Given the description of an element on the screen output the (x, y) to click on. 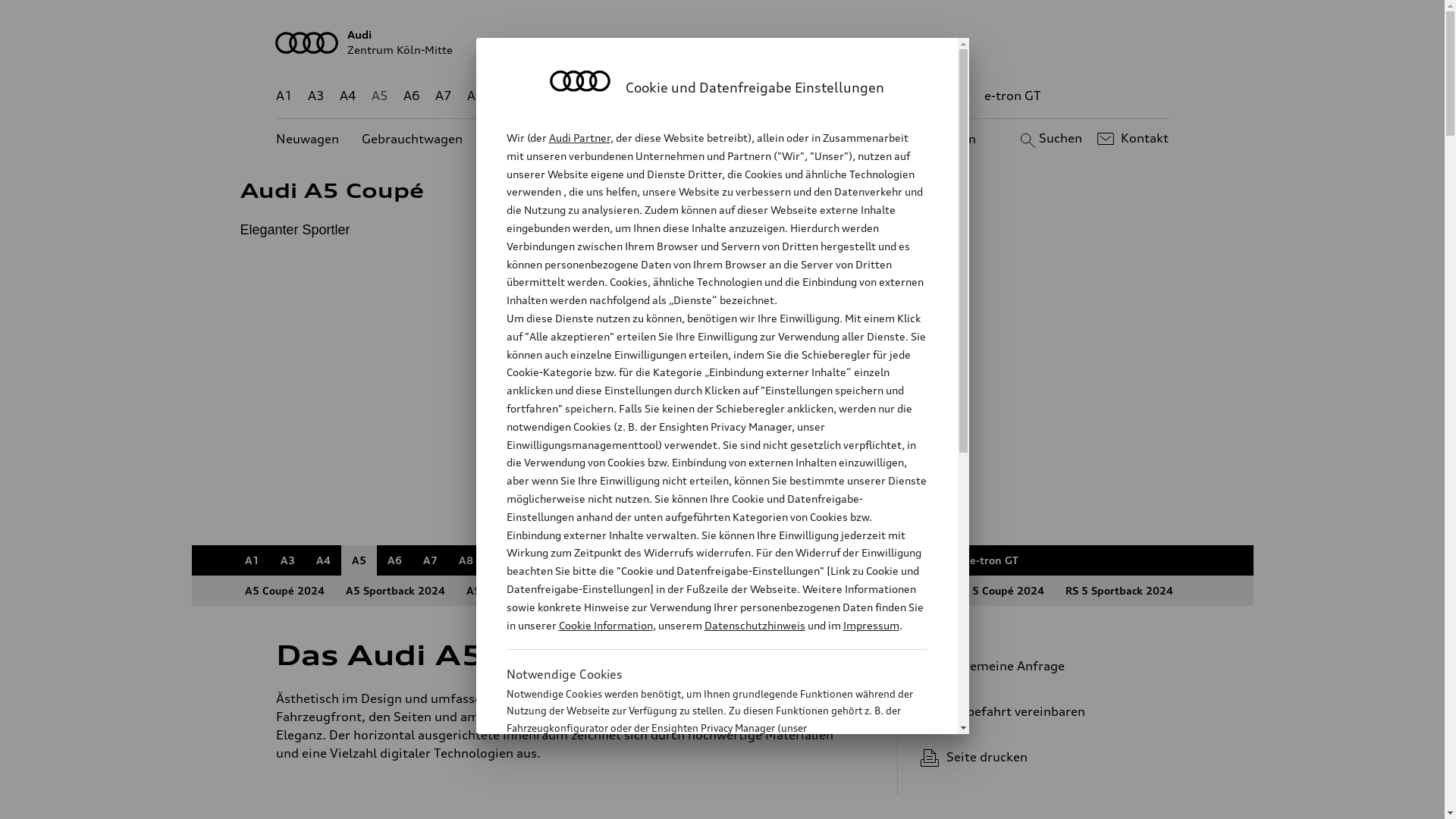
Kontakt Element type: text (1130, 138)
A7 Element type: text (430, 560)
A4 Element type: text (322, 560)
Datenschutzhinweis Element type: text (753, 624)
Q3 Element type: text (536, 560)
Probefahrt vereinbaren Element type: text (1038, 711)
Q4 e-tron Element type: text (592, 95)
Gebrauchtwagen Element type: text (411, 139)
Kundenservice Element type: text (730, 139)
Q7 Element type: text (678, 560)
A6 Element type: text (411, 95)
RS Element type: text (908, 95)
Q5 Element type: text (642, 560)
A8 Element type: text (465, 560)
e-tron GT Element type: text (1012, 95)
Suchen Element type: text (1049, 138)
Q2 Element type: text (507, 95)
e-tron GT Element type: text (993, 560)
S5 Sportback TDI 2024 Element type: text (760, 590)
Q8 e-tron Element type: text (767, 560)
A8 Element type: text (475, 95)
A5 Cabriolet 2024 Element type: text (513, 590)
A5 Sportback 2024 Element type: text (395, 590)
TT Element type: text (814, 95)
R8 Element type: text (852, 560)
A5 Element type: text (358, 560)
RS Element type: text (887, 560)
Q4 e-tron Element type: text (590, 560)
A3 Element type: text (315, 95)
A1 Element type: text (251, 560)
R8 Element type: text (861, 95)
A4 Element type: text (347, 95)
A7 Element type: text (443, 95)
g-tron Element type: text (950, 95)
Q7 Element type: text (678, 95)
A1 Element type: text (284, 95)
Cookie Information Element type: text (605, 624)
S5 Cabriolet 2024 Element type: text (886, 590)
Impressum Element type: text (871, 624)
Q8 e-tron Element type: text (763, 95)
Cookie Information Element type: text (700, 802)
Q5 Element type: text (645, 95)
Neuwagen Element type: text (307, 139)
Audi Partner Element type: text (579, 137)
Q3 Element type: text (540, 95)
Q8 Element type: text (713, 560)
Q8 Element type: text (710, 95)
TT Element type: text (818, 560)
A5 Element type: text (379, 95)
RS 5 Sportback 2024 Element type: text (1118, 590)
Angebote Element type: text (636, 139)
A6 Element type: text (393, 560)
Seite drucken Element type: text (1044, 756)
g-tron Element type: text (932, 560)
Allgemeine Anfrage Element type: text (1038, 665)
A3 Element type: text (287, 560)
Q2 Element type: text (501, 560)
